Given the description of an element on the screen output the (x, y) to click on. 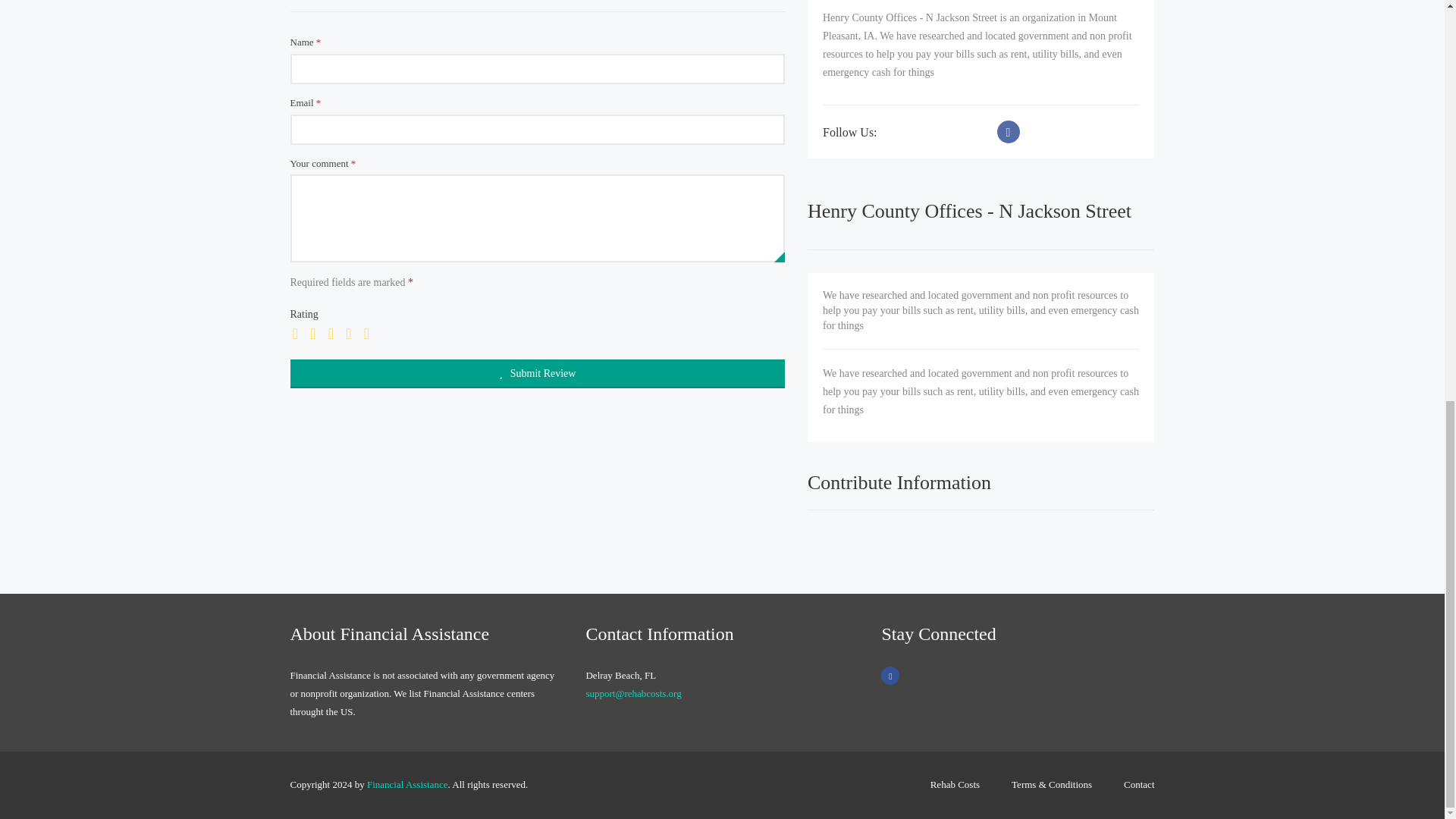
Contact (1131, 785)
Submit Review (536, 373)
Rehab Costs (954, 785)
Financial Assistance (407, 784)
Financial Assistance (407, 784)
